Given the description of an element on the screen output the (x, y) to click on. 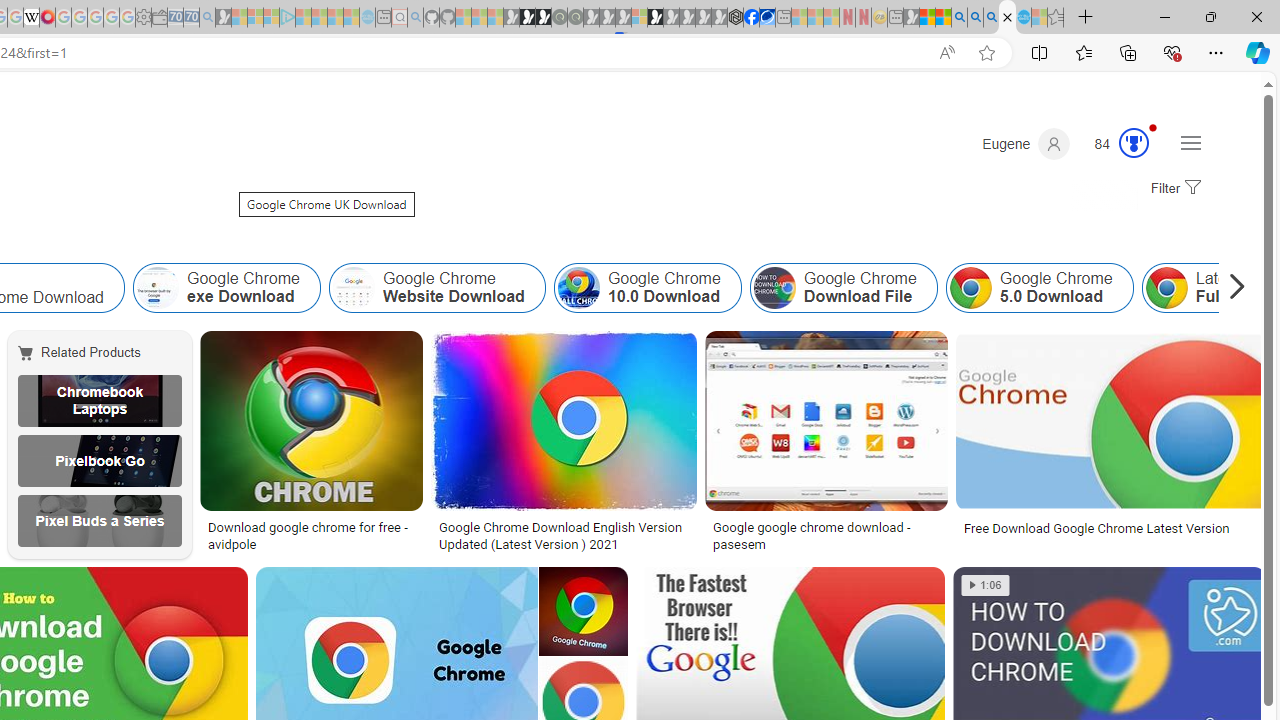
Microsoft Rewards 84 (1115, 143)
Free Download Google Chrome Latest Version (1096, 528)
Scroll right (1231, 287)
Settings and quick links (1190, 142)
Google google chrome download - pasesem (825, 535)
